Given the description of an element on the screen output the (x, y) to click on. 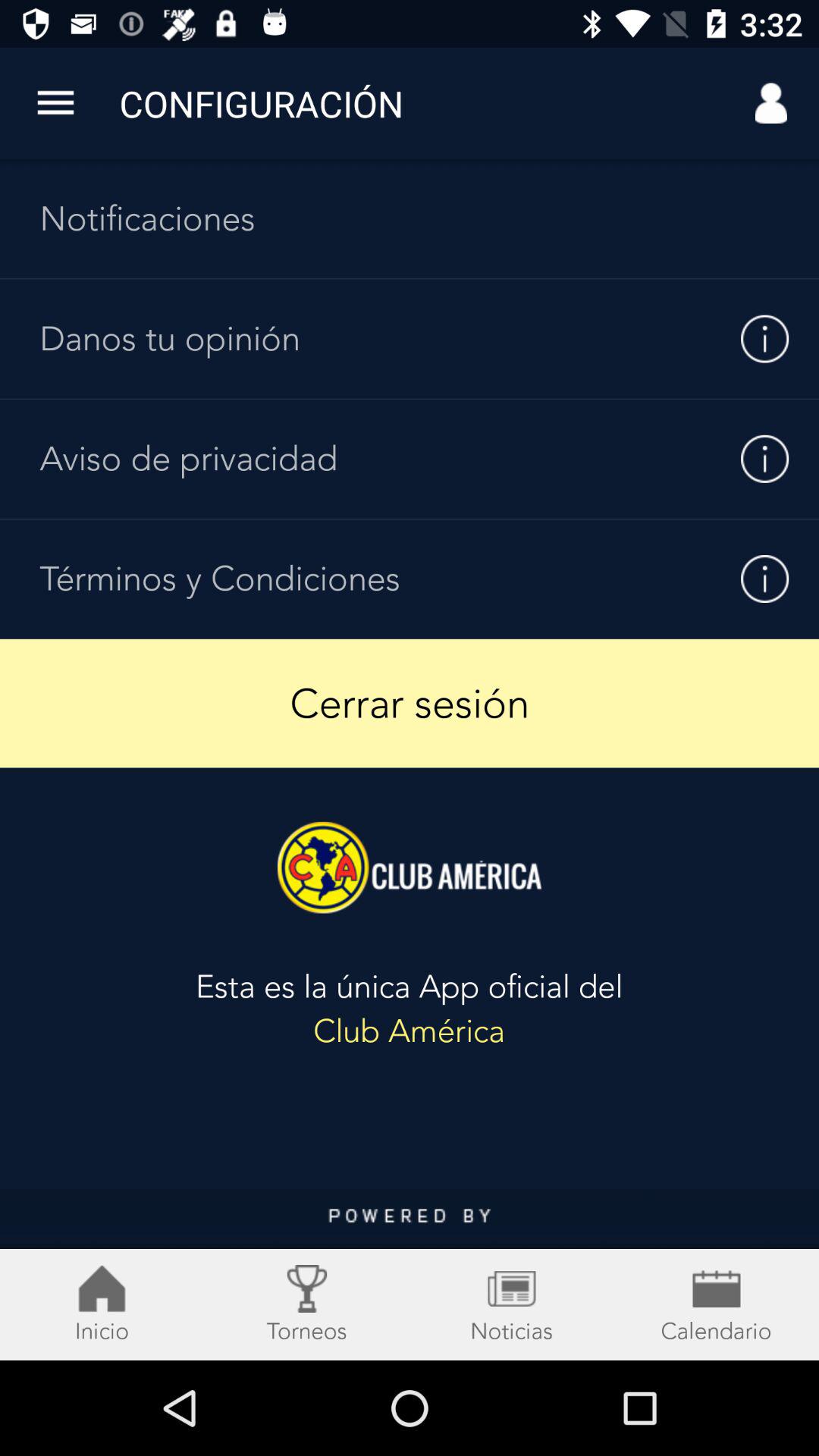
open menu options (55, 103)
